Given the description of an element on the screen output the (x, y) to click on. 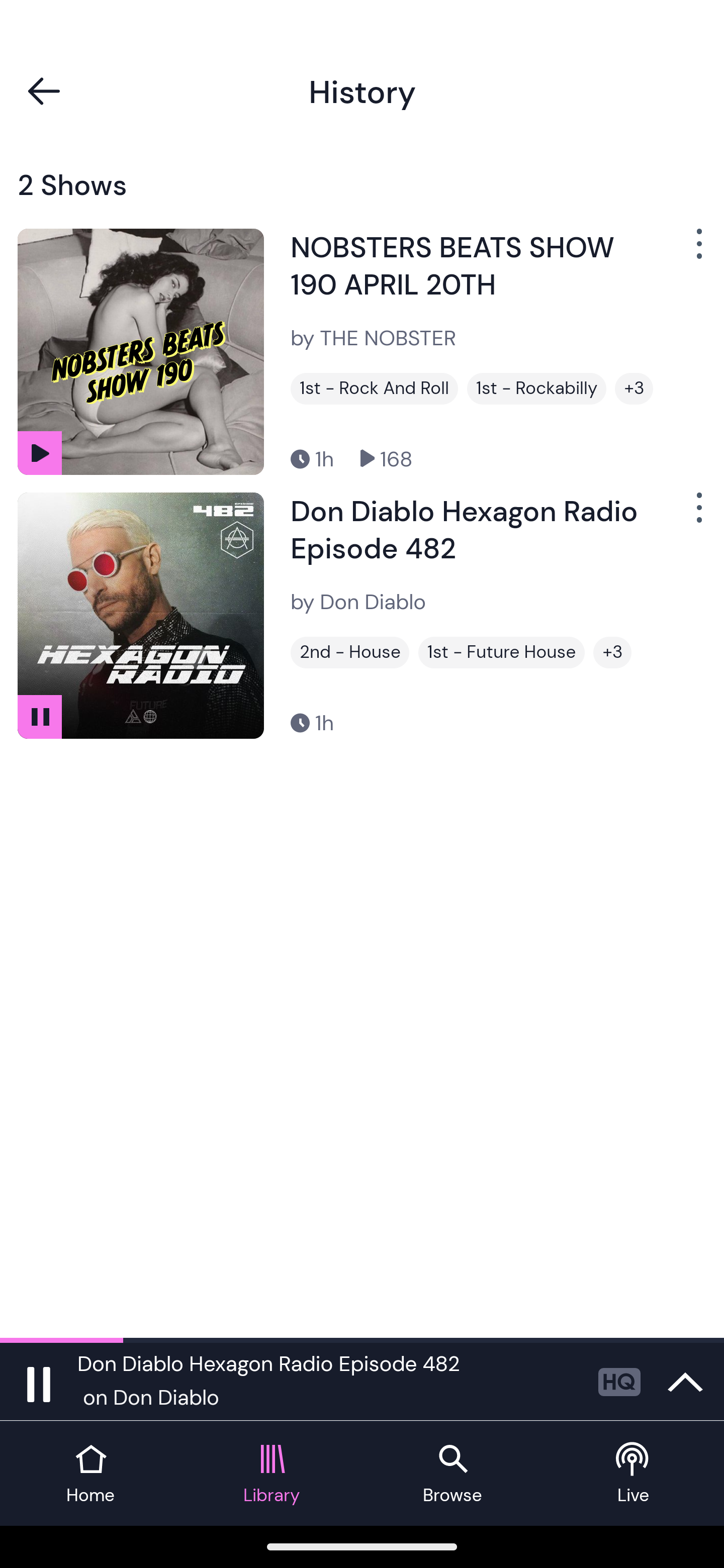
Show Options Menu Button (697, 251)
1st - Rock And Roll (374, 388)
1st - Rockabilly (536, 388)
Show Options Menu Button (697, 514)
2nd - House (349, 651)
1st - Future House (501, 651)
Home tab Home (90, 1473)
Library tab Library (271, 1473)
Browse tab Browse (452, 1473)
Live tab Live (633, 1473)
